Given the description of an element on the screen output the (x, y) to click on. 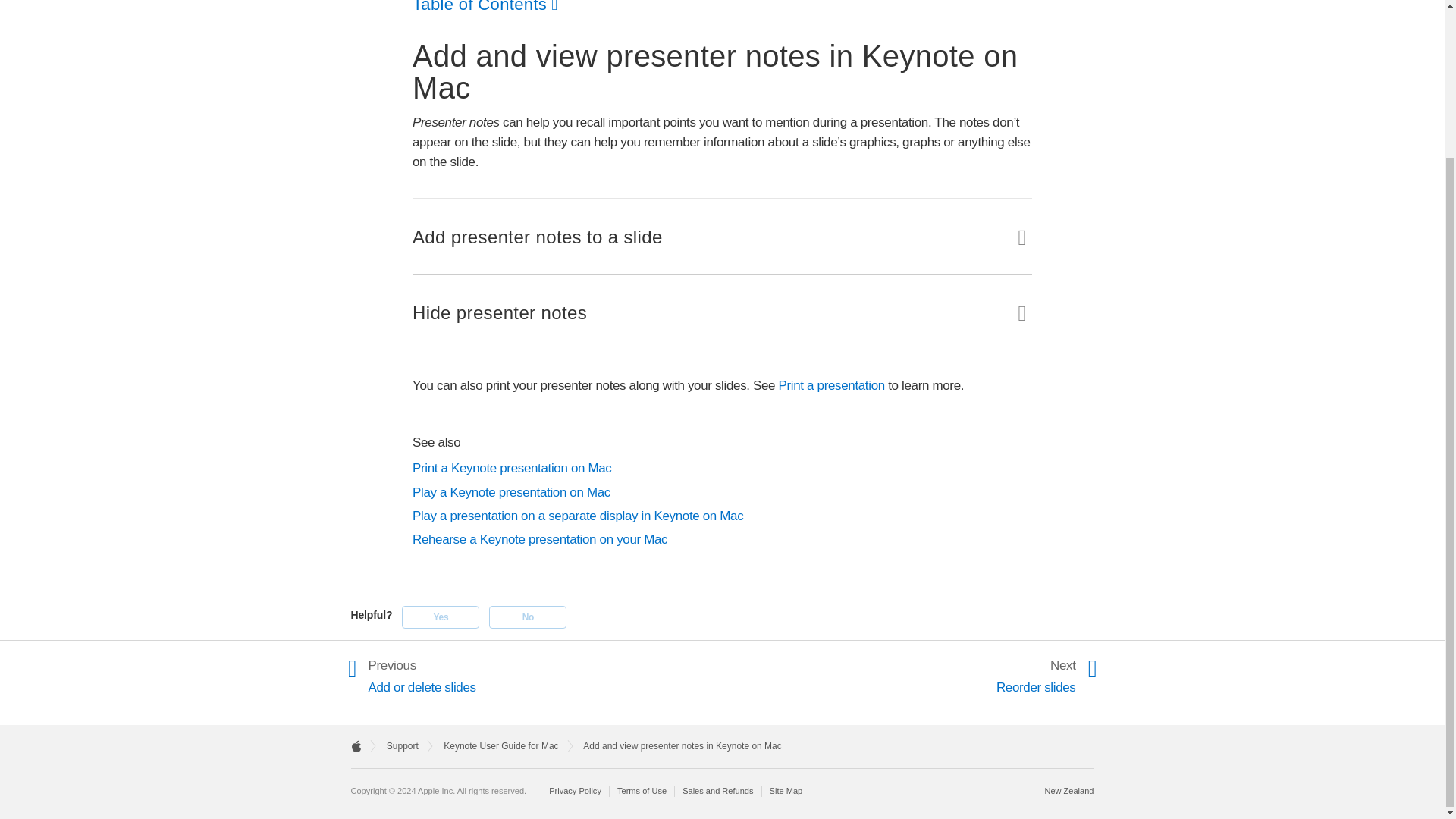
Choose your country or region (1068, 790)
Not helpful (527, 617)
Solved my problem (440, 617)
